Given the description of an element on the screen output the (x, y) to click on. 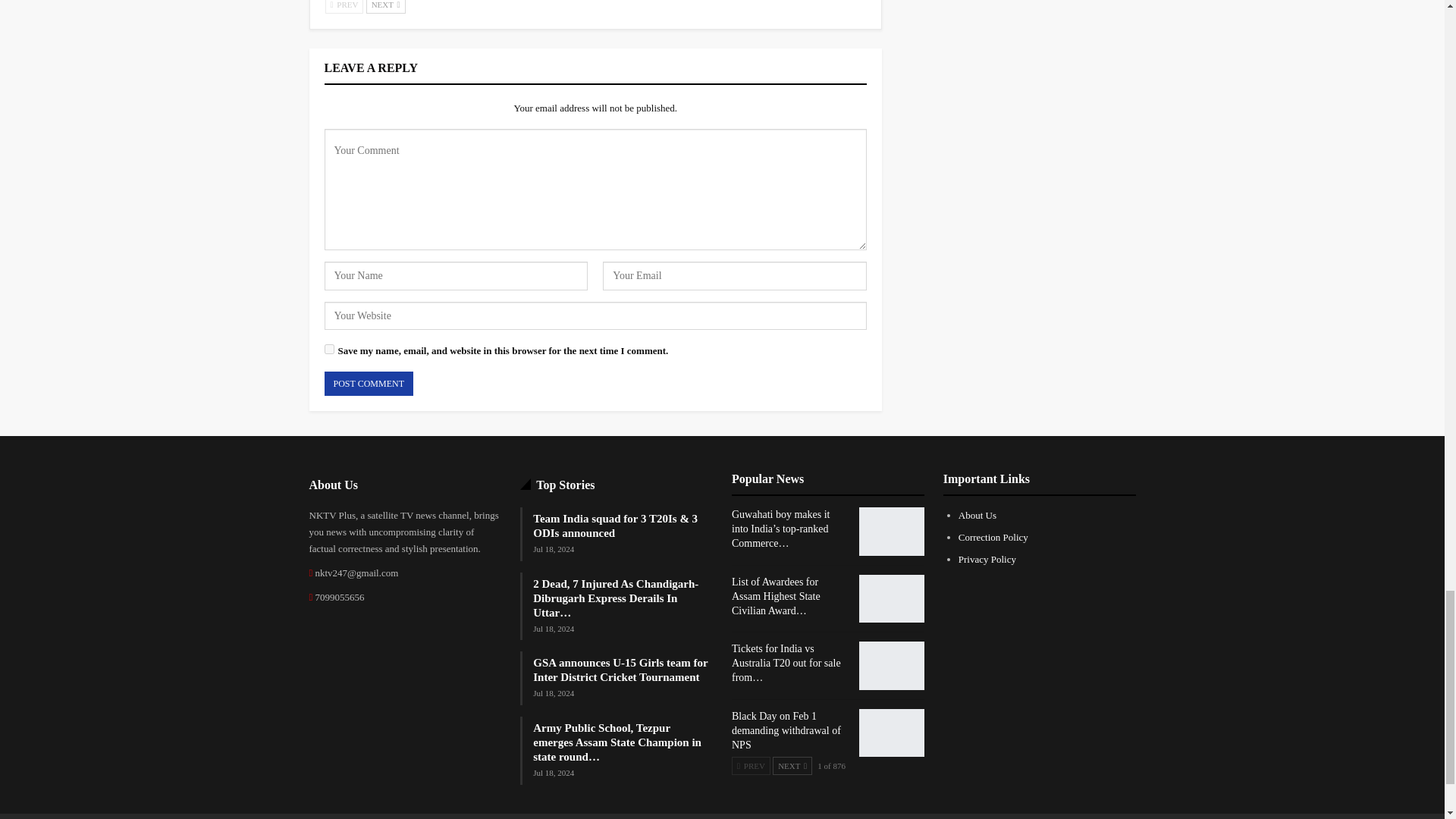
Post Comment (368, 383)
yes (329, 348)
